Given the description of an element on the screen output the (x, y) to click on. 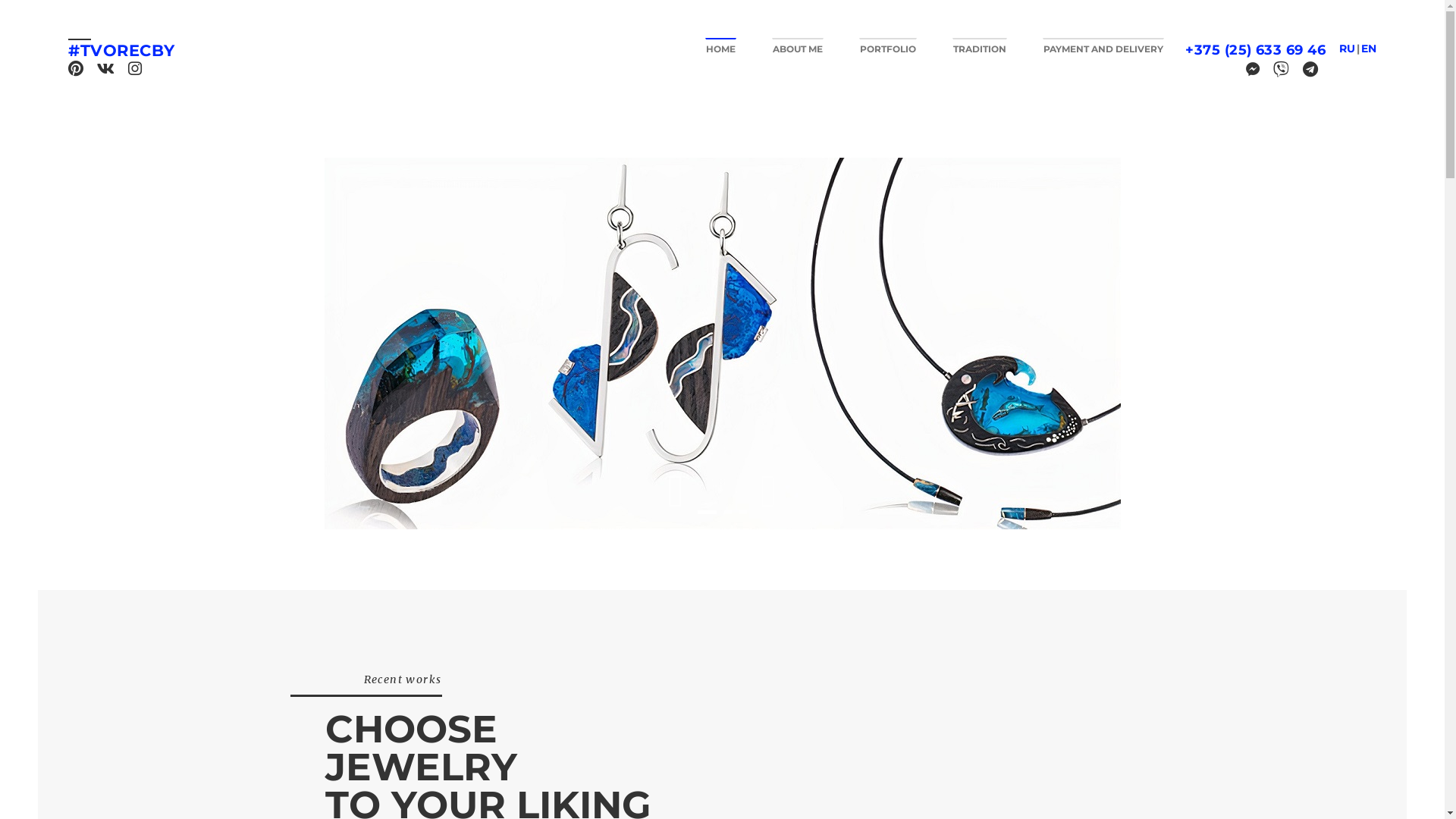
HOME Element type: text (720, 45)
TRADITION Element type: text (979, 45)
ABOUT ME Element type: text (797, 45)
PORTFOLIO Element type: text (887, 45)
PAYMENT AND DELIVERY Element type: text (1103, 45)
RU Element type: text (1347, 48)
EN Element type: text (1368, 48)
#TVORECBY Element type: text (121, 50)
